Given the description of an element on the screen output the (x, y) to click on. 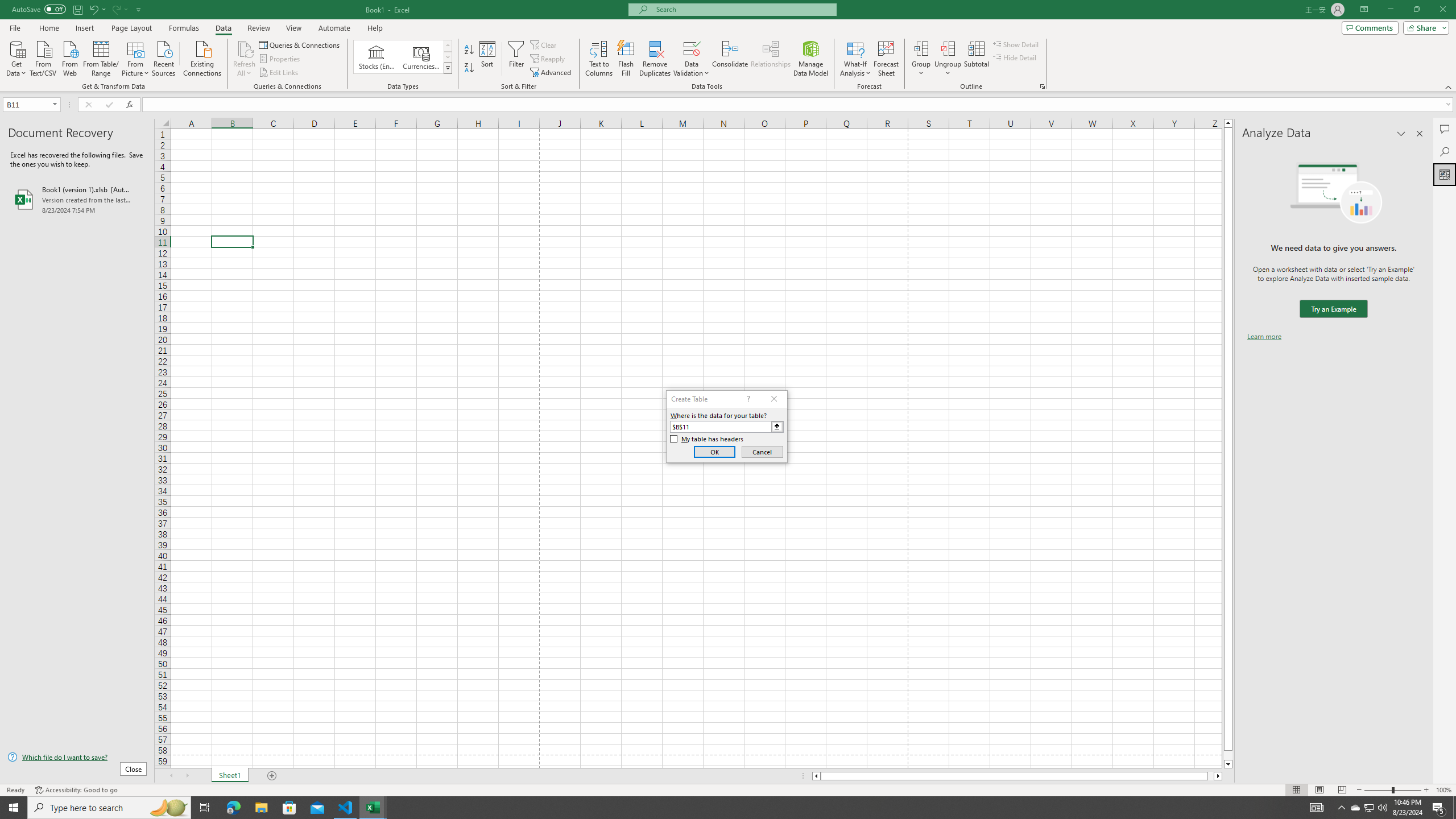
Reapply (548, 58)
Subtotal (976, 58)
Manage Data Model (810, 58)
Flash Fill (625, 58)
From Text/CSV (43, 57)
Formula Bar (799, 104)
Sort Z to A (469, 67)
